Given the description of an element on the screen output the (x, y) to click on. 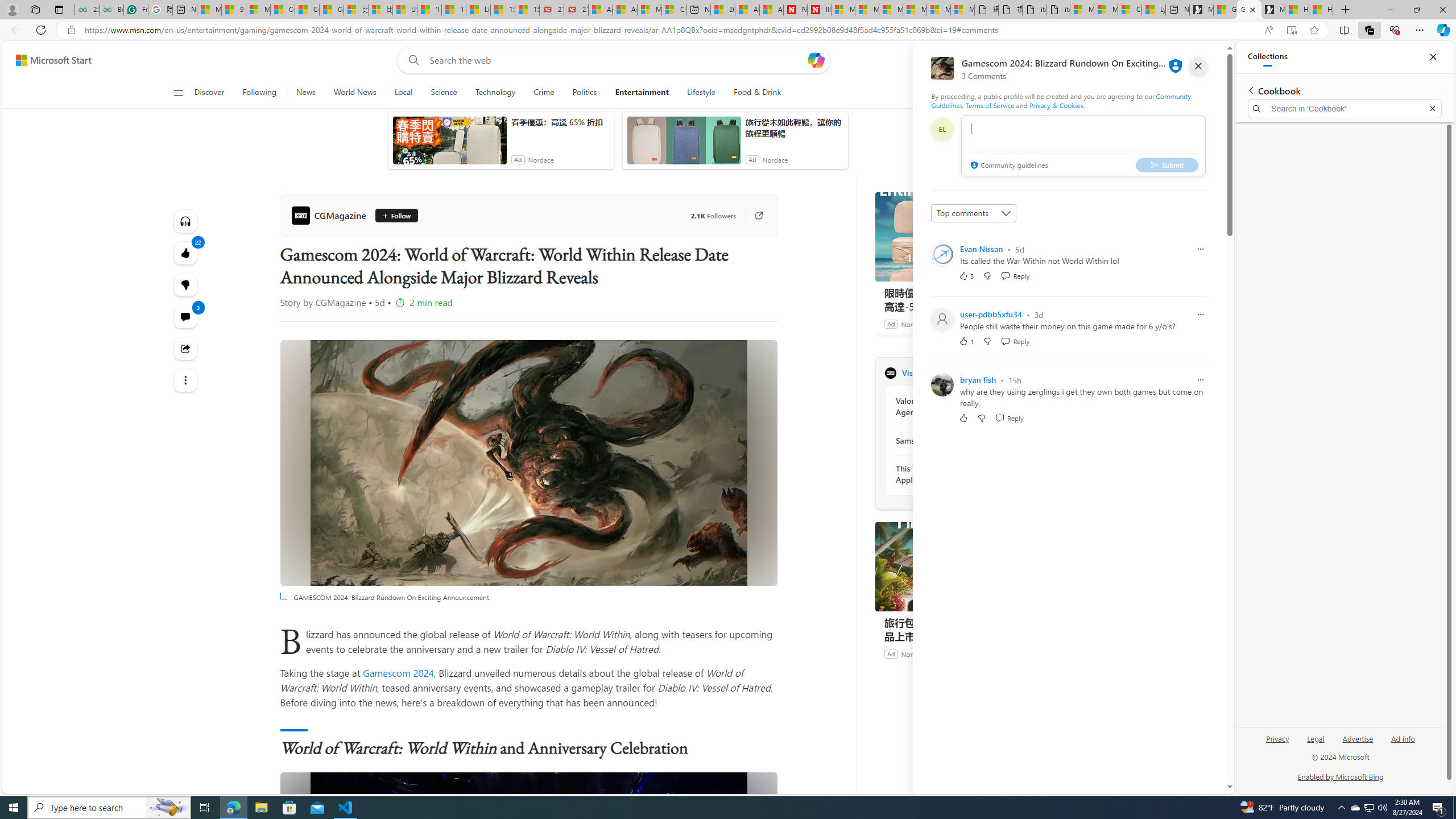
22 Like (184, 252)
21 Movies That Outdid the Books They Were Based On (575, 9)
5 Like (965, 275)
